Given the description of an element on the screen output the (x, y) to click on. 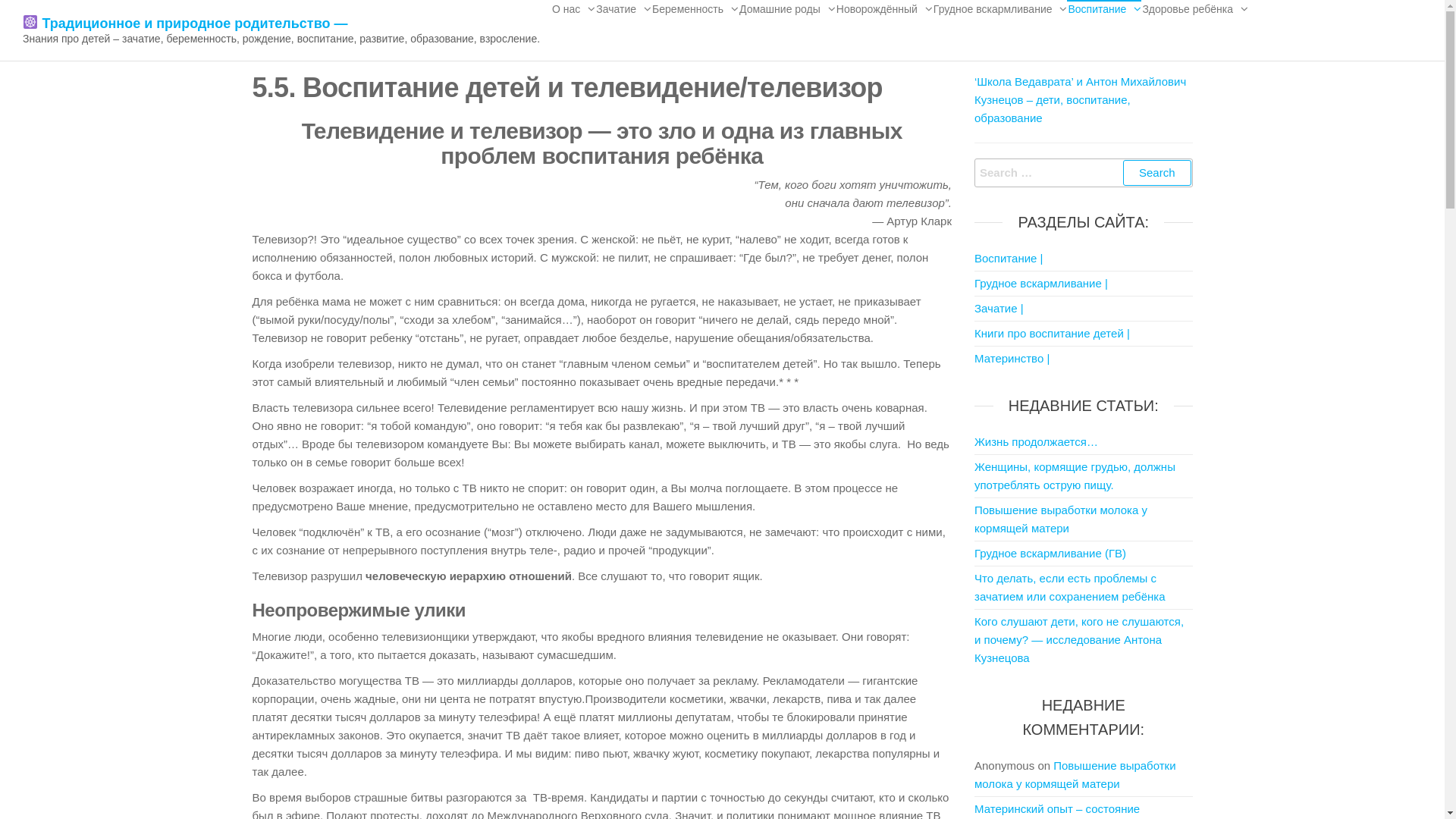
Search Element type: text (1157, 172)
